Given the description of an element on the screen output the (x, y) to click on. 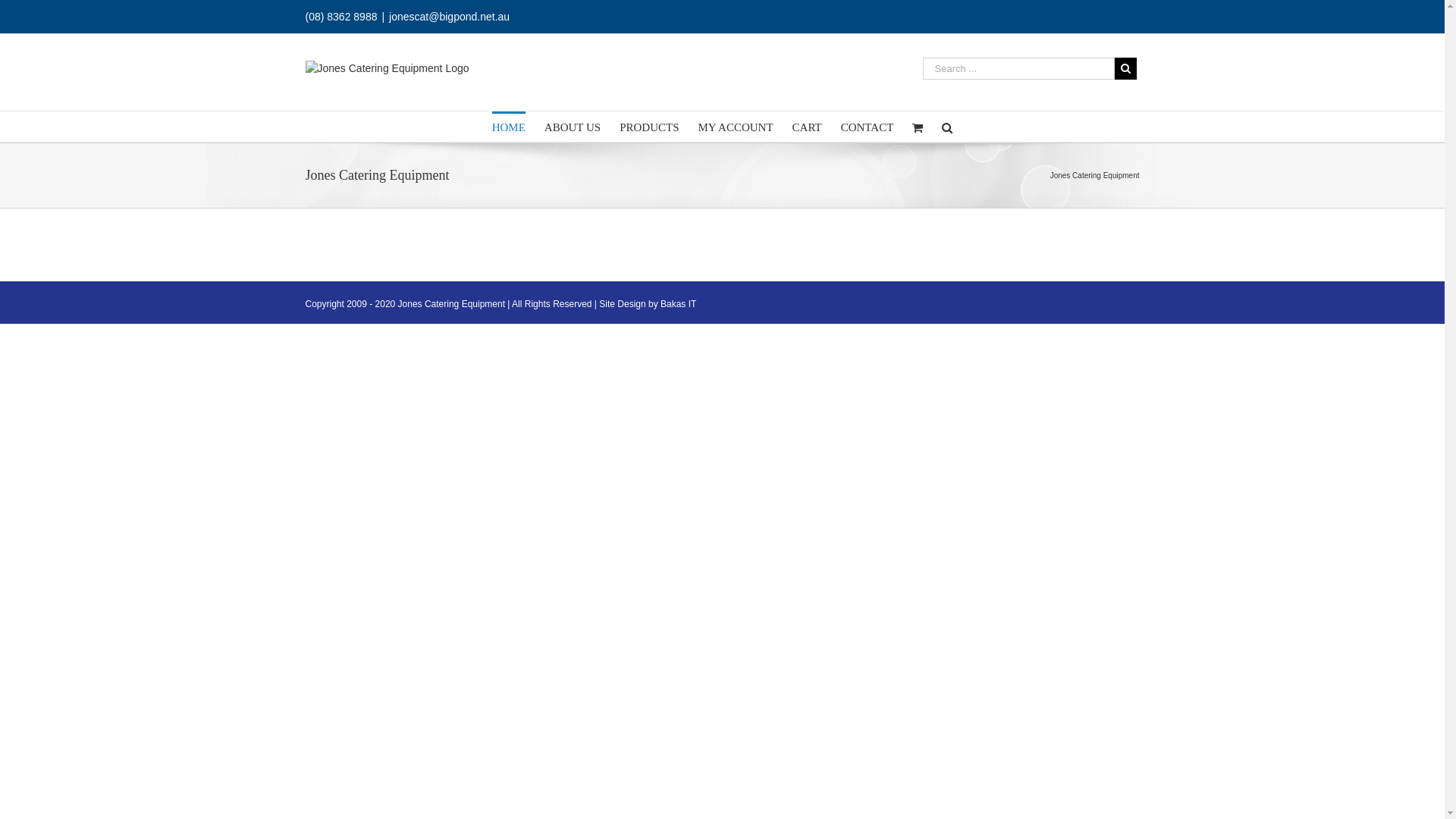
PRODUCTS Element type: text (648, 126)
MY ACCOUNT Element type: text (735, 126)
jonescat@bigpond.net.au Element type: text (449, 16)
CART Element type: text (807, 126)
ABOUT US Element type: text (572, 126)
HOME Element type: text (508, 126)
CONTACT Element type: text (867, 126)
Bakas IT Element type: text (678, 303)
